Given the description of an element on the screen output the (x, y) to click on. 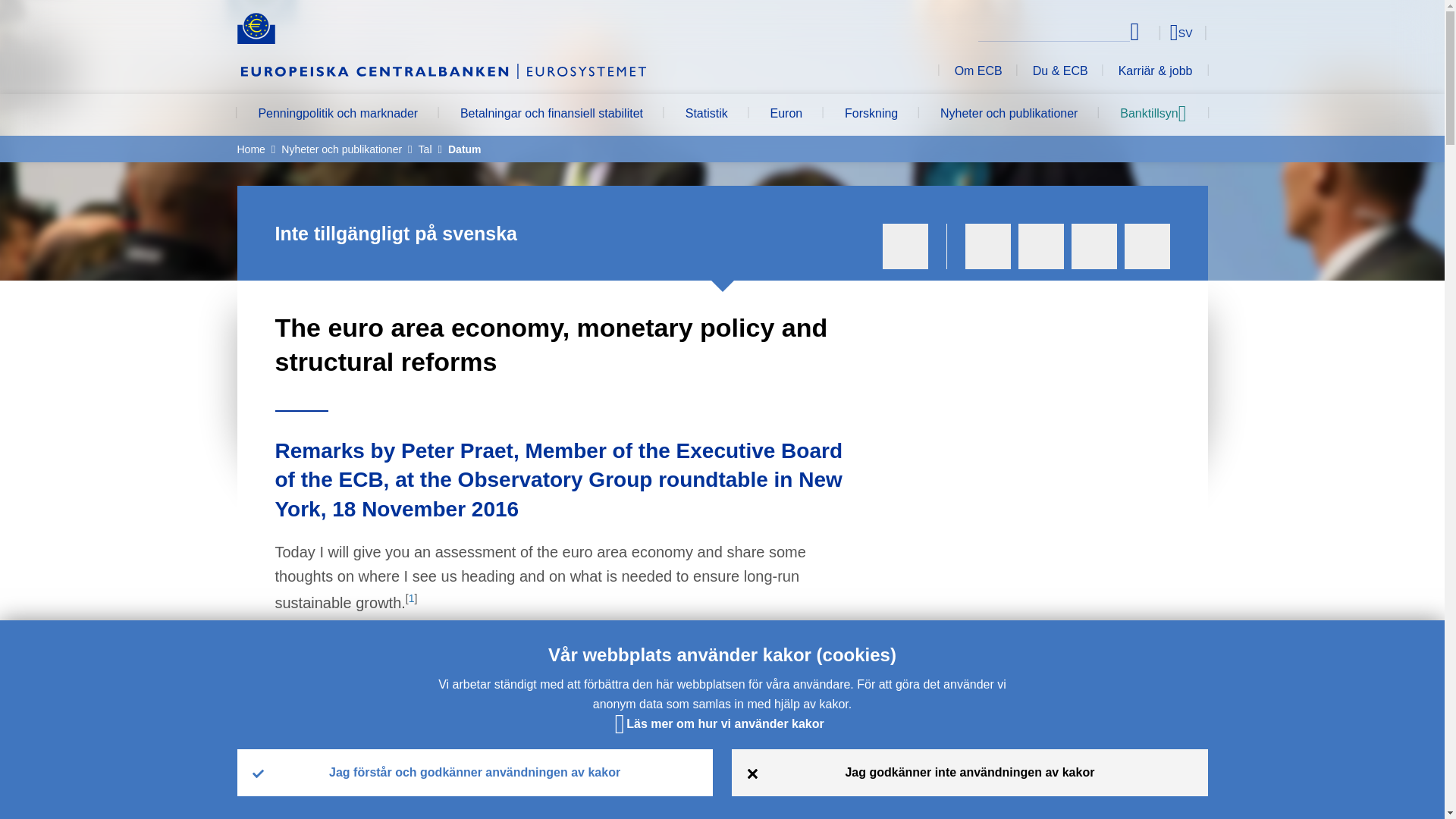
Penningpolitik och marknader (337, 114)
Select language (1153, 32)
